Given the description of an element on the screen output the (x, y) to click on. 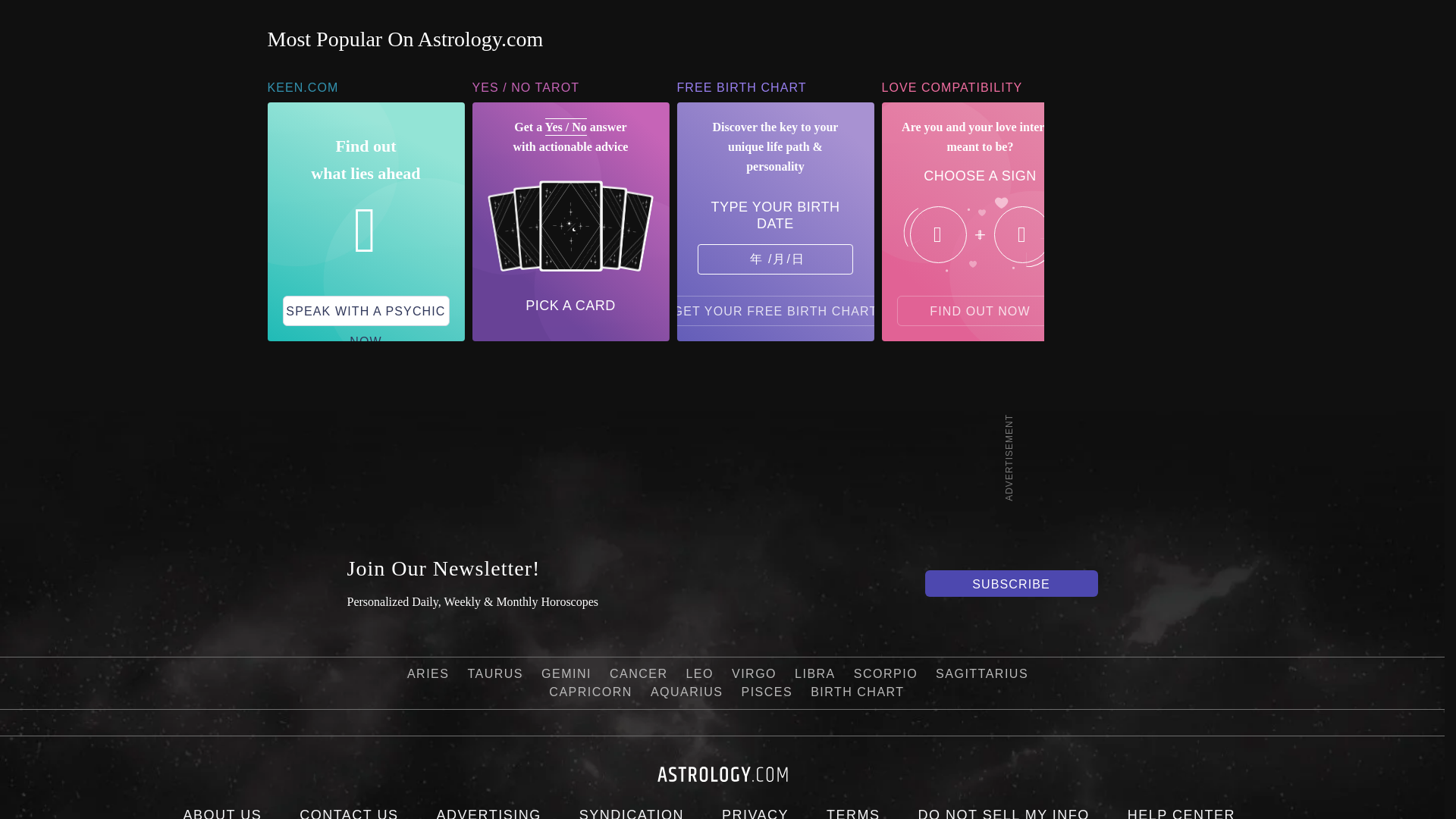
Get your free birth chart (775, 310)
